Given the description of an element on the screen output the (x, y) to click on. 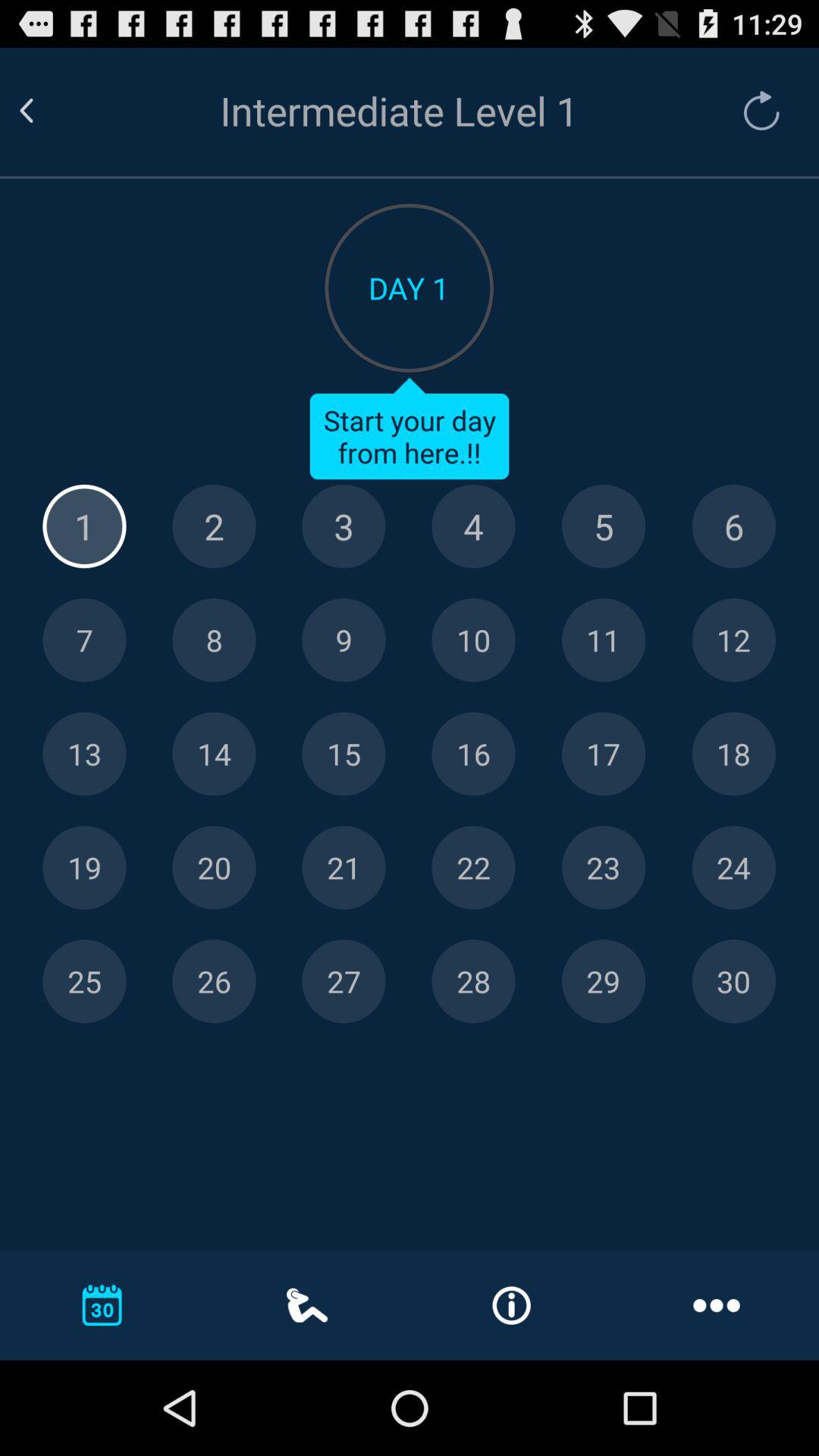
select day 24 (733, 867)
